Given the description of an element on the screen output the (x, y) to click on. 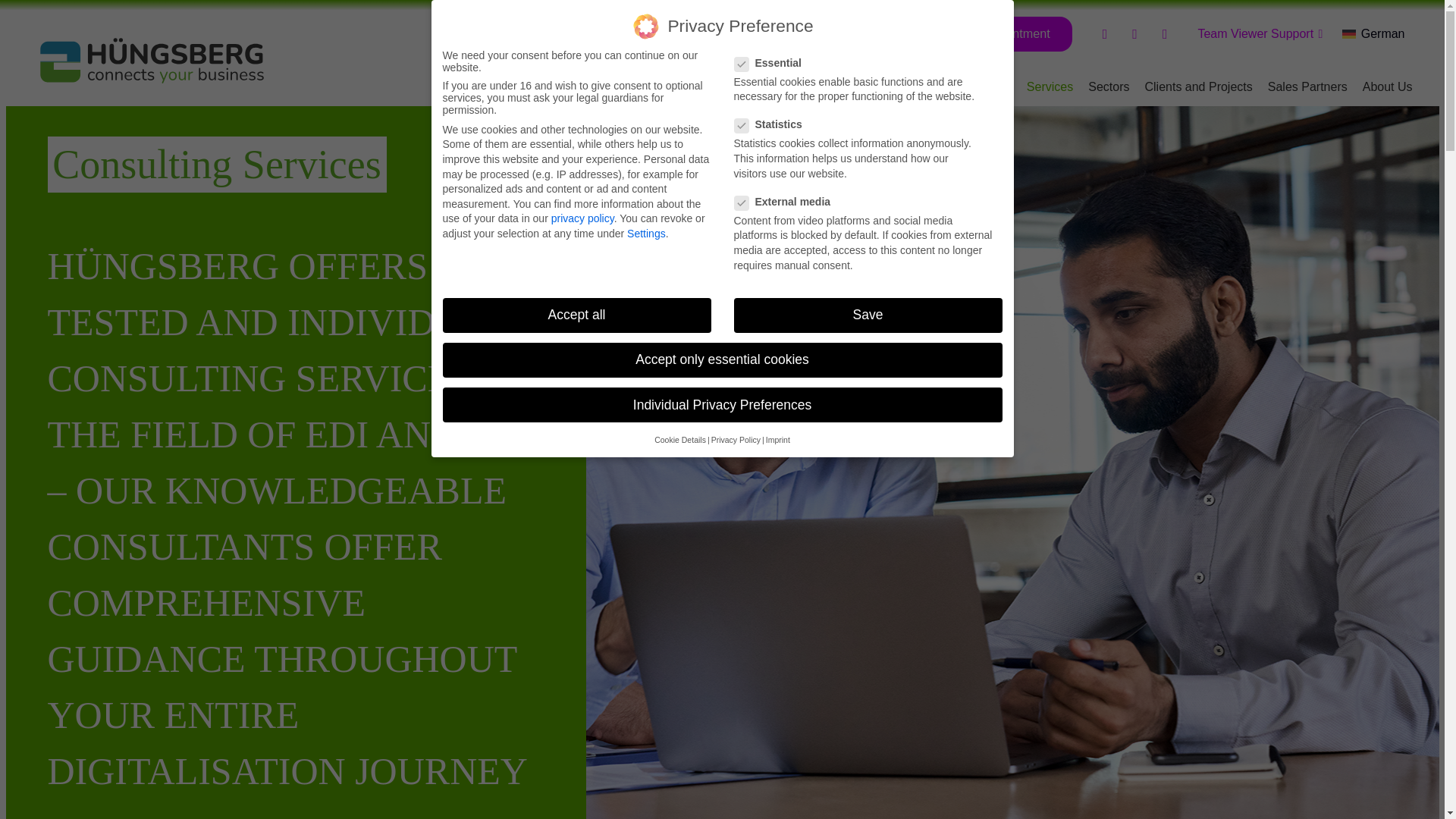
make an appointment (985, 33)
Services (1049, 86)
EDI Solutions (879, 86)
German (1373, 33)
Sectors (1108, 86)
CAD Solutions (971, 86)
LinkedIn (1164, 33)
YouTube (1134, 33)
Clients and Projects (1198, 86)
Xing (1104, 33)
